Given the description of an element on the screen output the (x, y) to click on. 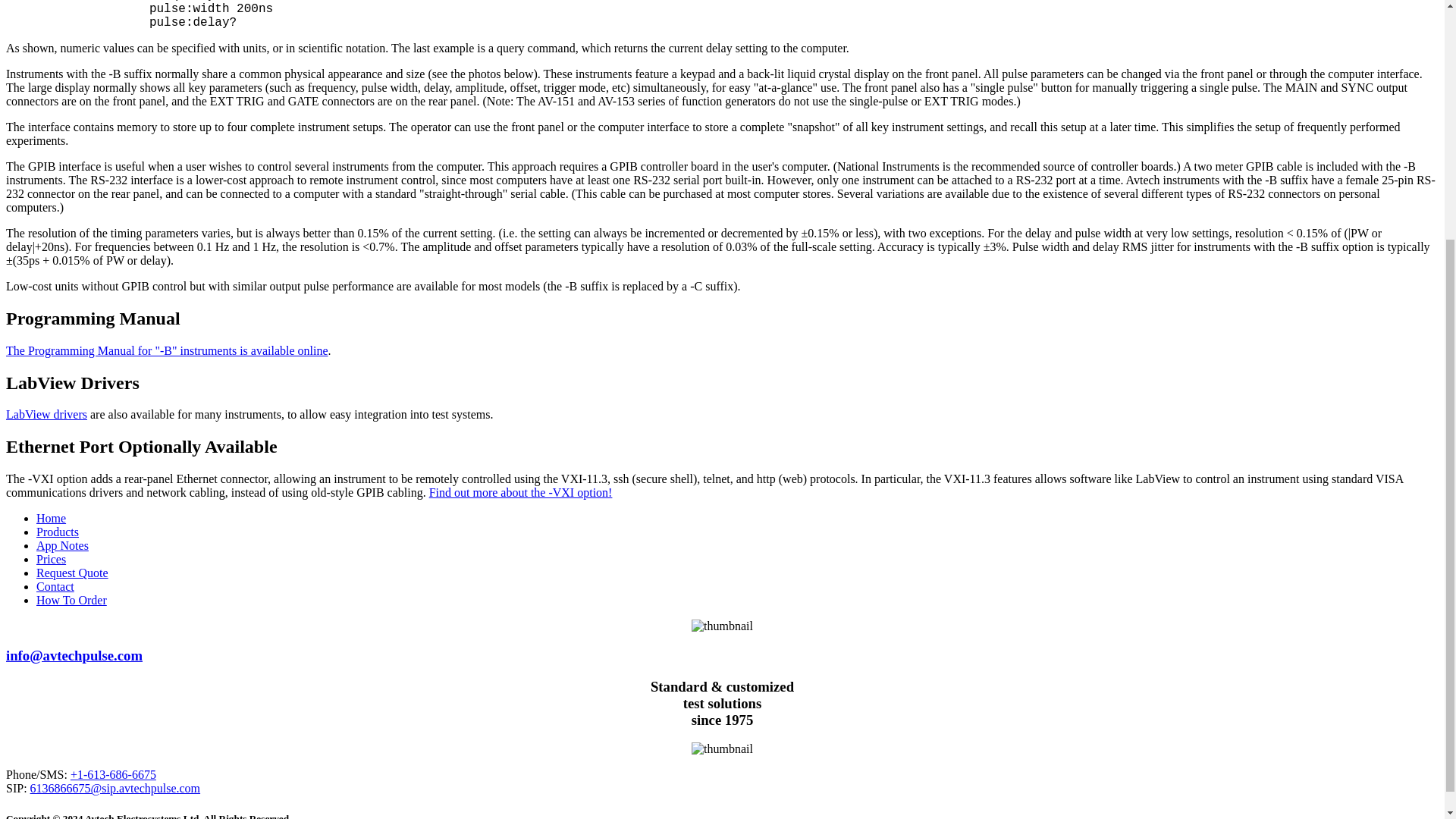
Products (57, 531)
Contact (55, 585)
Request Quote (71, 572)
How To Order (71, 599)
Prices (50, 558)
App Notes (62, 545)
LabView drivers (46, 413)
Find out more about the -VXI option! (520, 492)
Home (50, 517)
